Given the description of an element on the screen output the (x, y) to click on. 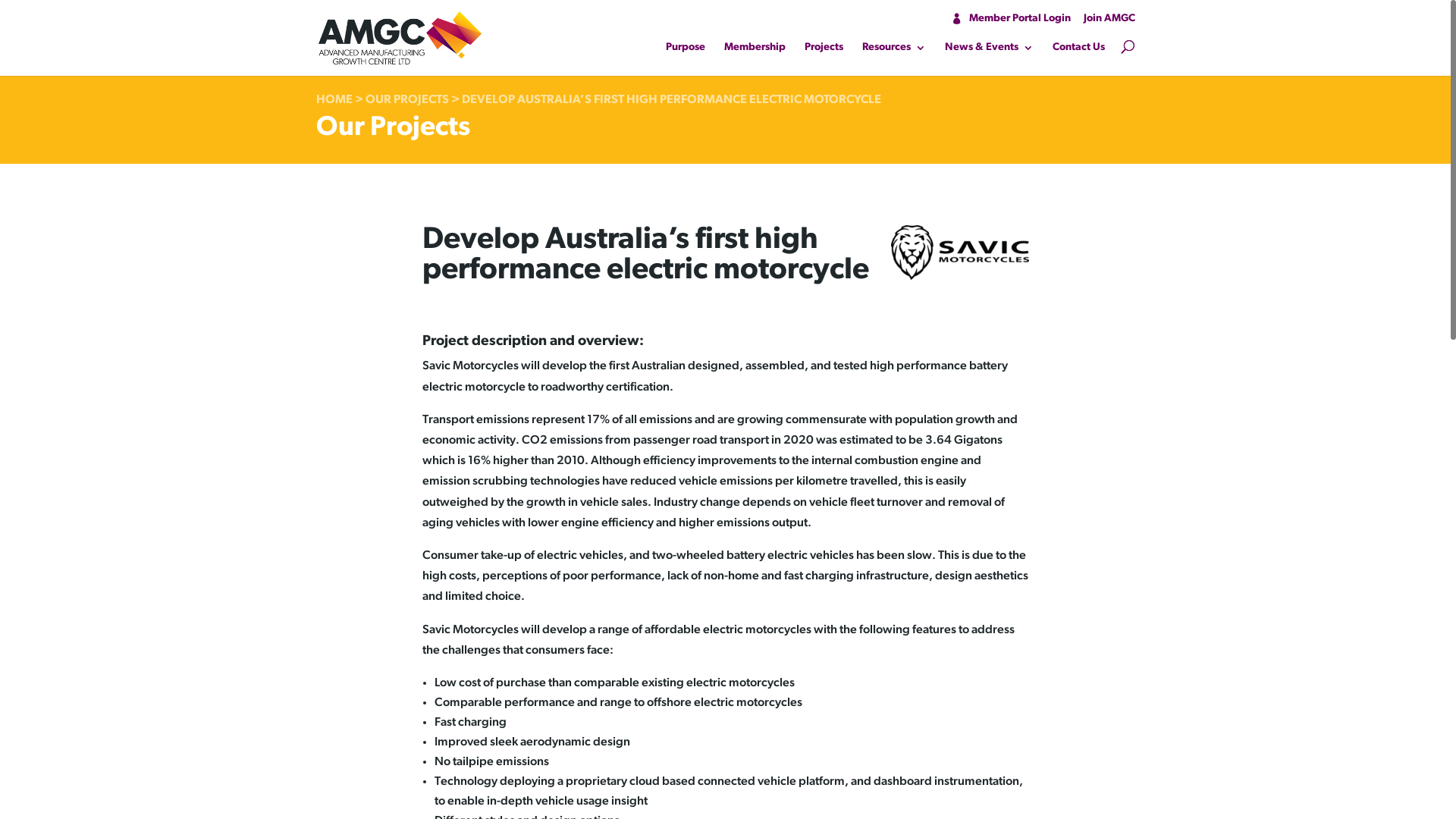
Member Portal Login Element type: text (1010, 18)
Membership Element type: text (753, 50)
Projects Element type: text (822, 50)
Purpose Element type: text (685, 50)
Resources Element type: text (893, 50)
Contact Us Element type: text (1078, 50)
HOME Element type: text (333, 100)
News & Events Element type: text (988, 50)
OUR PROJECTS Element type: text (406, 100)
Join AMGC Element type: text (1108, 18)
